Given the description of an element on the screen output the (x, y) to click on. 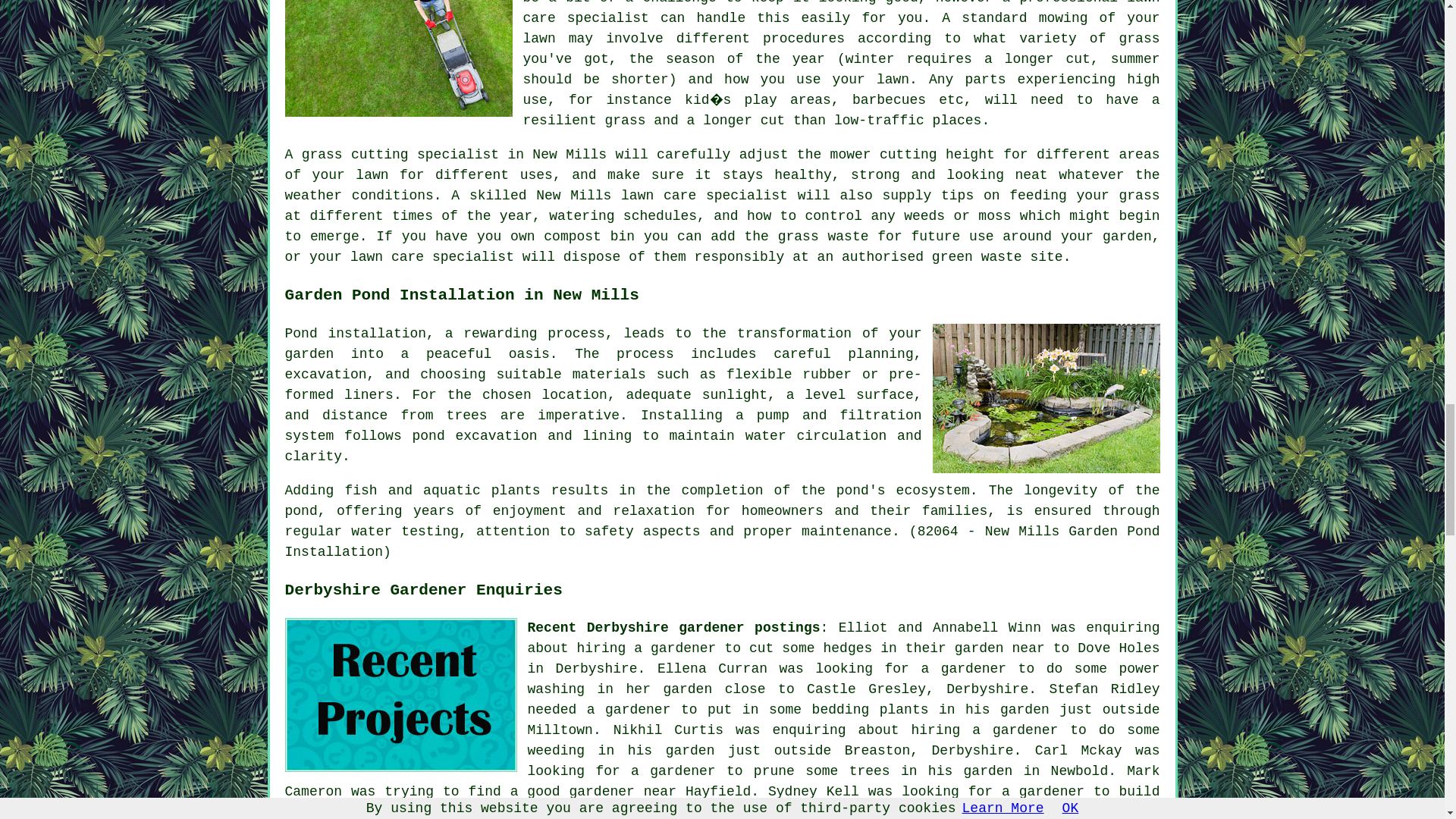
Lawn Mowing New Mills Derbyshire (398, 58)
